Given the description of an element on the screen output the (x, y) to click on. 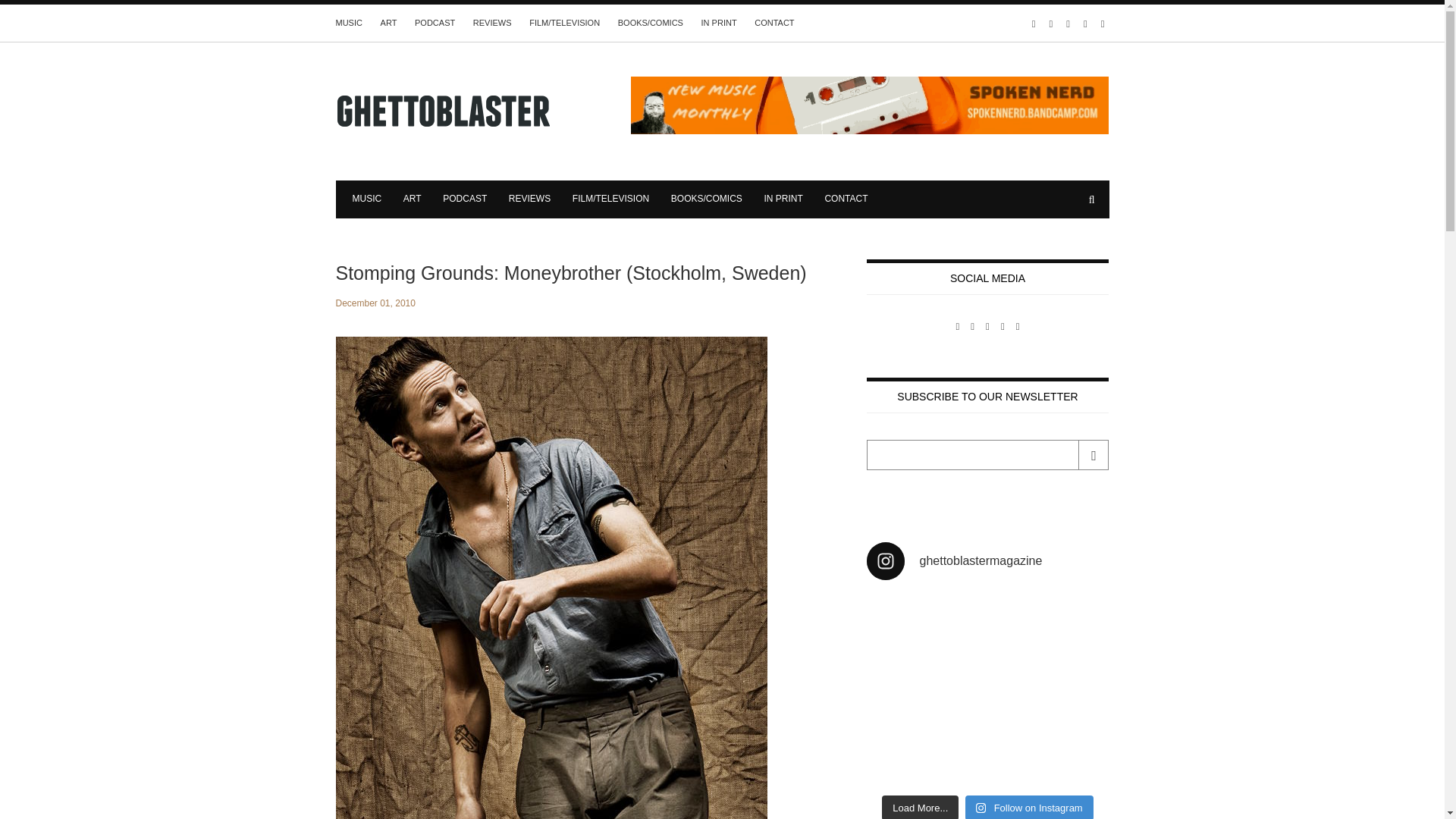
ART (388, 22)
CONTACT (845, 198)
IN PRINT (782, 198)
ART (412, 198)
REVIEWS (529, 198)
REVIEWS (492, 22)
Email (987, 454)
PODCAST (434, 22)
CONTACT (773, 22)
MUSIC (347, 22)
